Given the description of an element on the screen output the (x, y) to click on. 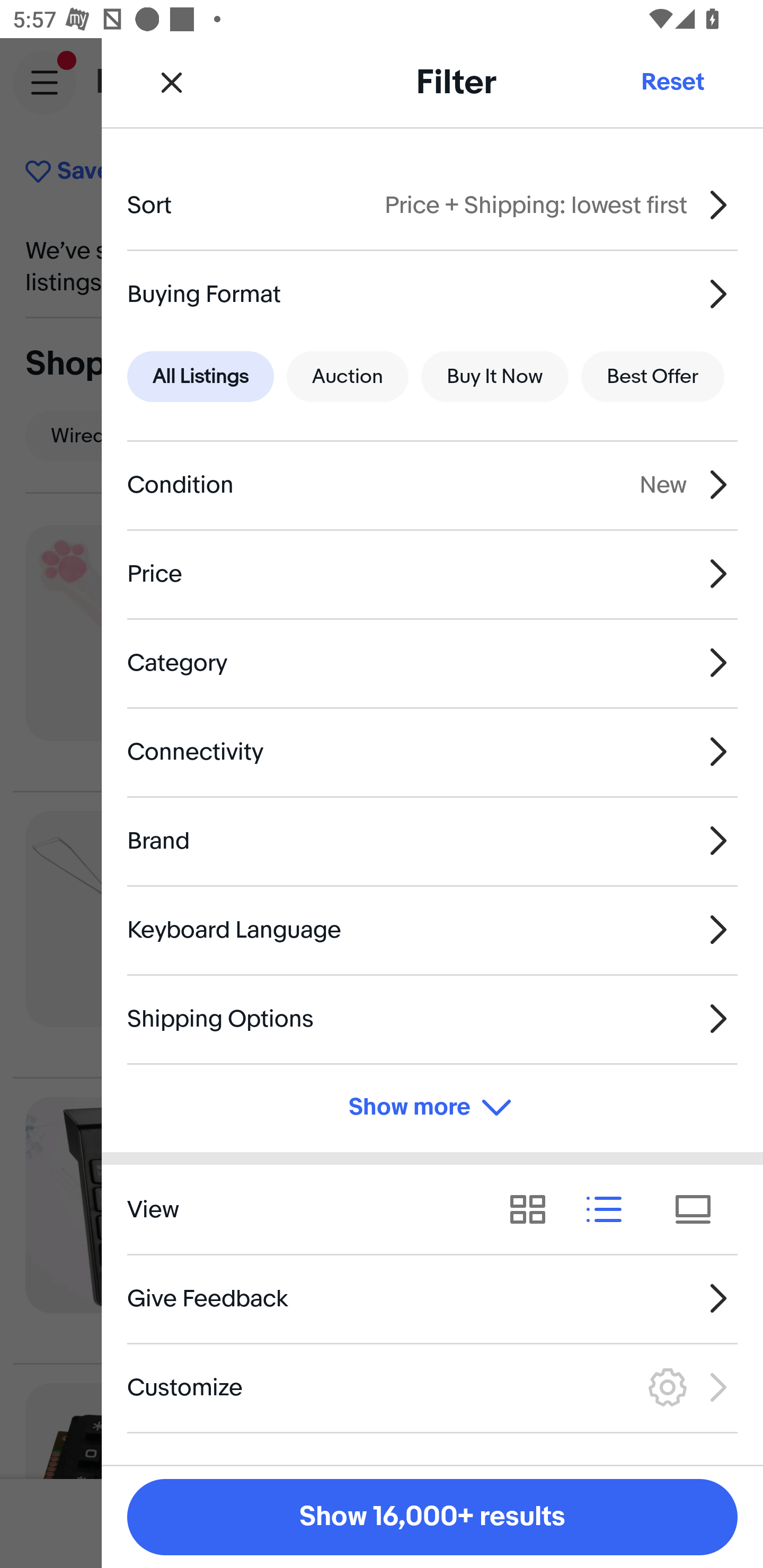
Close Filter (171, 81)
Reset (672, 81)
Buying Format (432, 293)
All Listings (200, 376)
Auction (347, 376)
Buy It Now (494, 376)
Best Offer (652, 376)
Condition New (432, 484)
Price (432, 573)
Category (432, 662)
Connectivity (432, 751)
Brand (432, 840)
Keyboard Language (432, 929)
Shipping Options (432, 1018)
Show more (432, 1107)
View results as grid (533, 1209)
View results as list (610, 1209)
View results as tiles (699, 1209)
Customize (432, 1386)
Show 16,000+ results (432, 1516)
